Given the description of an element on the screen output the (x, y) to click on. 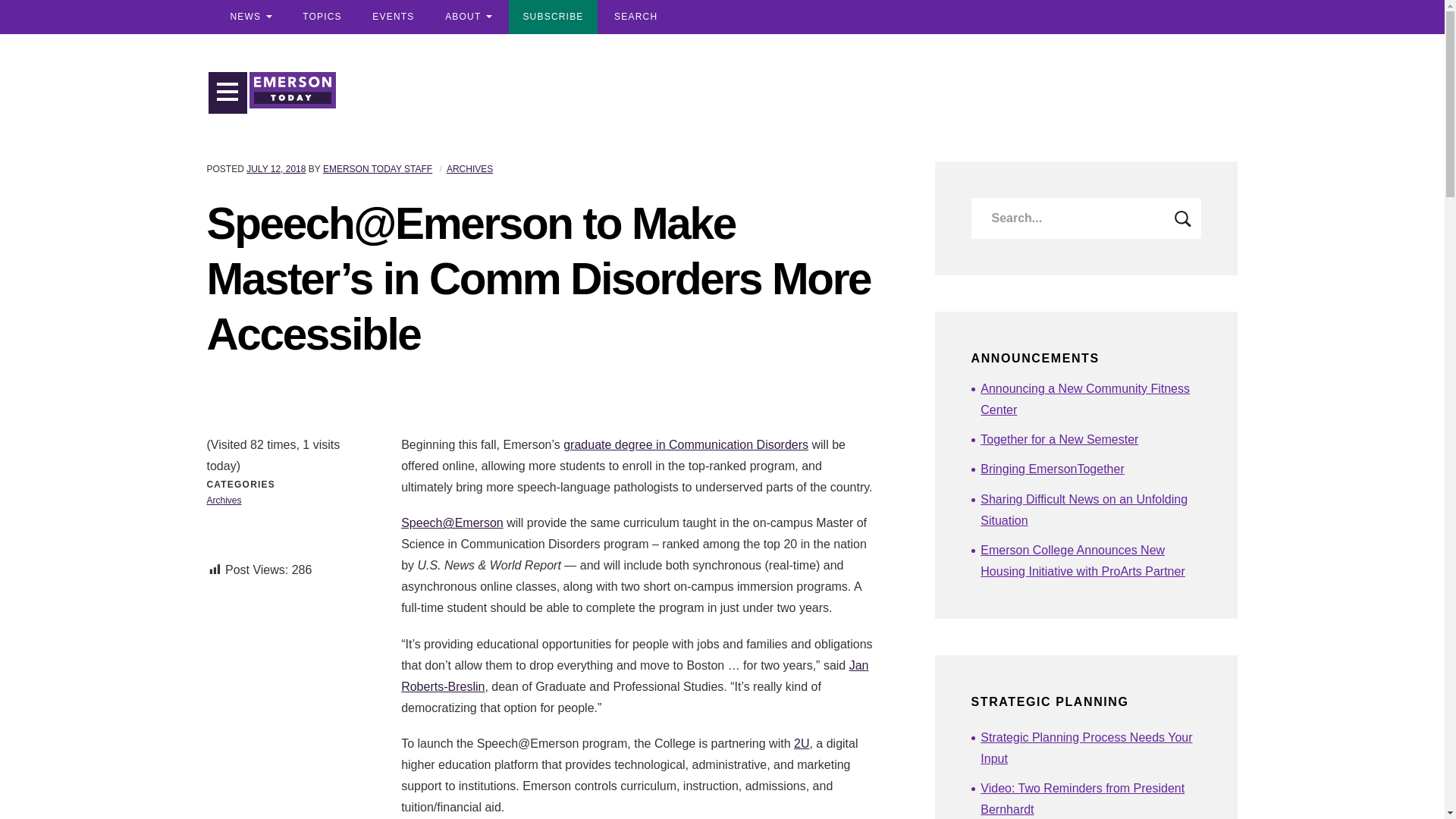
JULY 12, 2018 (275, 168)
2U (801, 743)
Archives (223, 500)
ABOUT (467, 17)
Sharing Difficult News on an Unfolding Situation (1090, 509)
Together for a New Semester (1090, 439)
OPEN MENU OVERLAY (227, 92)
SEARCH (635, 17)
Jan Roberts-Breslin (634, 675)
SUBSCRIBE (552, 17)
